Given the description of an element on the screen output the (x, y) to click on. 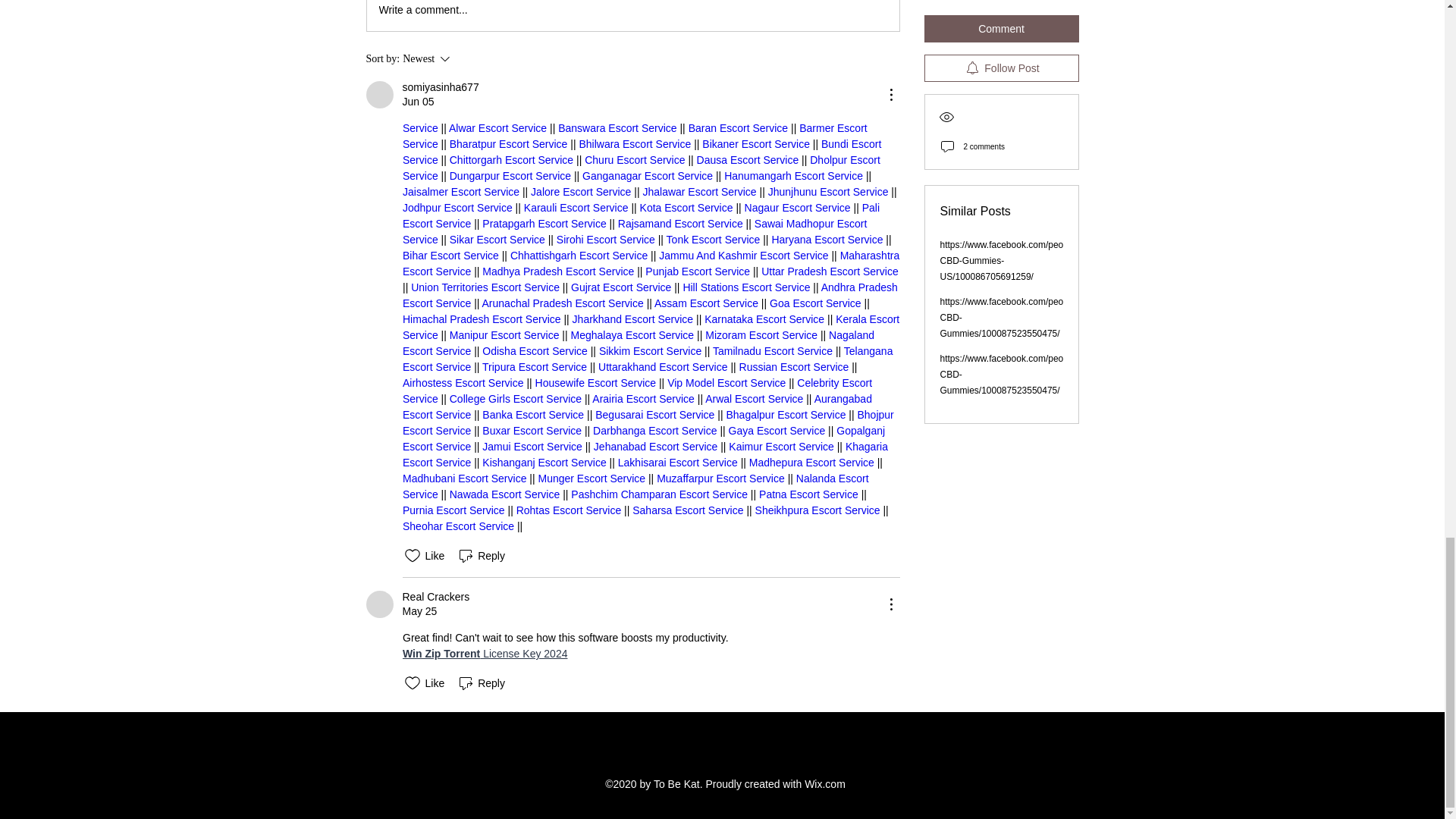
Real Crackers (379, 604)
somiyasinha677 (379, 94)
